Given the description of an element on the screen output the (x, y) to click on. 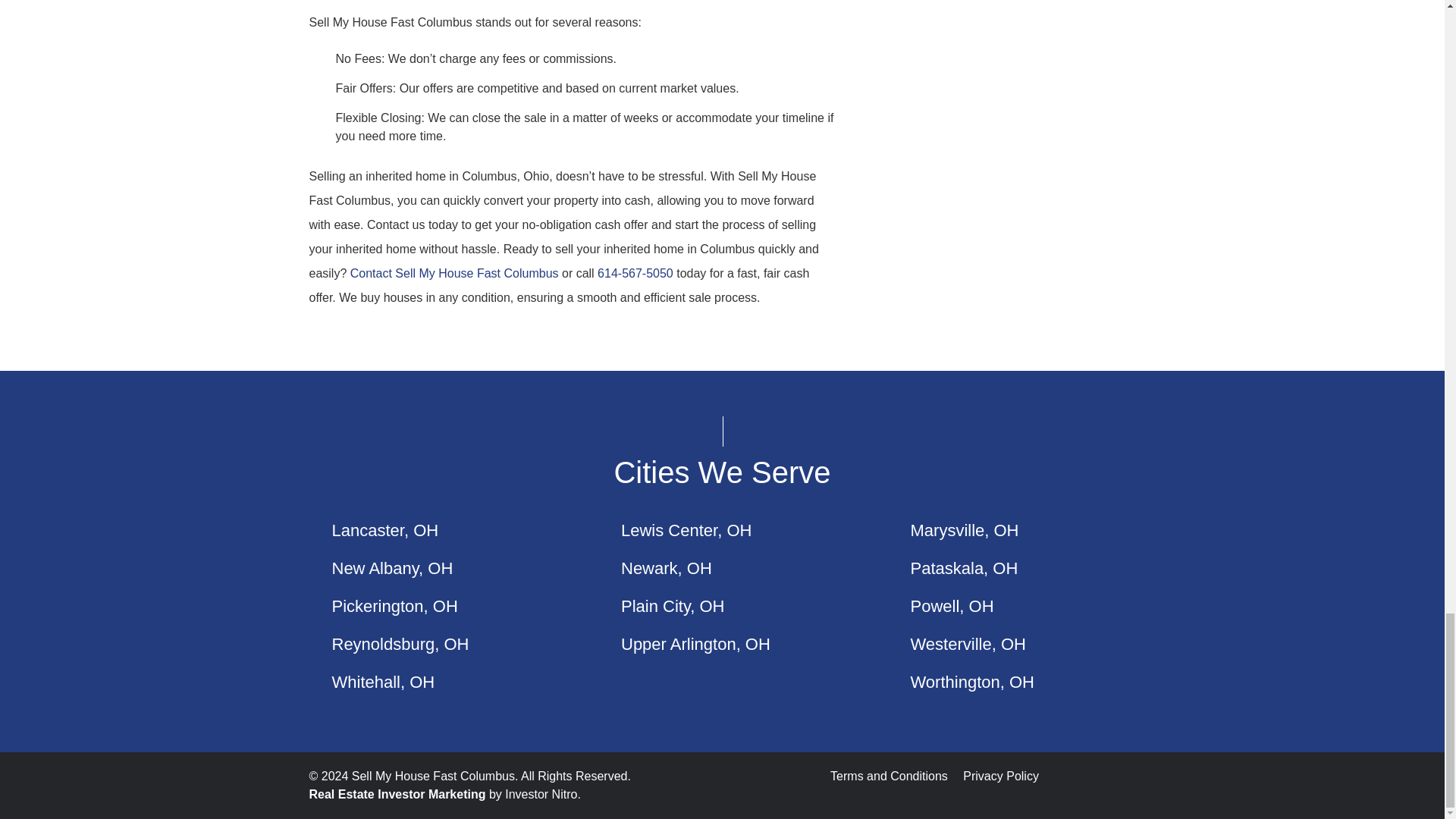
614-567-5050 (634, 273)
Pataskala, OH (963, 568)
Lewis Center, OH (686, 529)
Pickerington, OH (394, 606)
Powell, OH (951, 606)
New Albany, OH (391, 568)
Lancaster, OH (385, 529)
Terms and Conditions (888, 775)
Real Estate Investor Marketing (397, 793)
Privacy Policy (1000, 775)
